Given the description of an element on the screen output the (x, y) to click on. 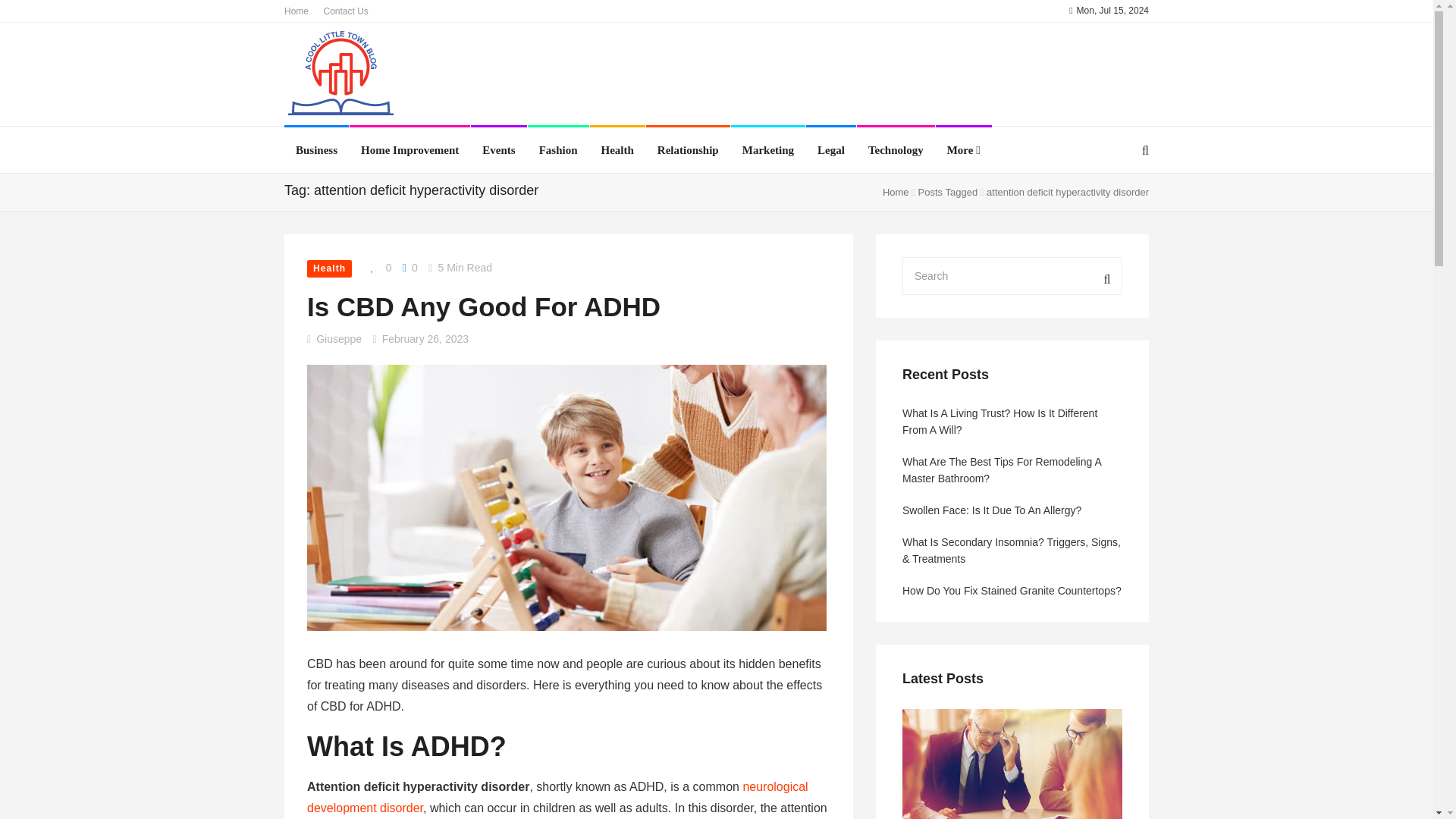
Swollen Face: Is It Due To An Allergy? (1012, 510)
Technology (895, 149)
Technology (895, 149)
Home (895, 192)
a cool little town (340, 75)
Home Improvement (409, 149)
February 26, 2023 (424, 338)
0 (376, 267)
What Are The Best Tips For Remodeling A Master Bathroom? (1012, 469)
Marketing (767, 149)
Is CBD Any Good For ADHD (484, 306)
What Is A Living Trust? How Is It Different From A Will? (1012, 421)
Home Improvement (409, 149)
Home (295, 10)
How Do You Fix Stained Granite Countertops? (1012, 590)
